Given the description of an element on the screen output the (x, y) to click on. 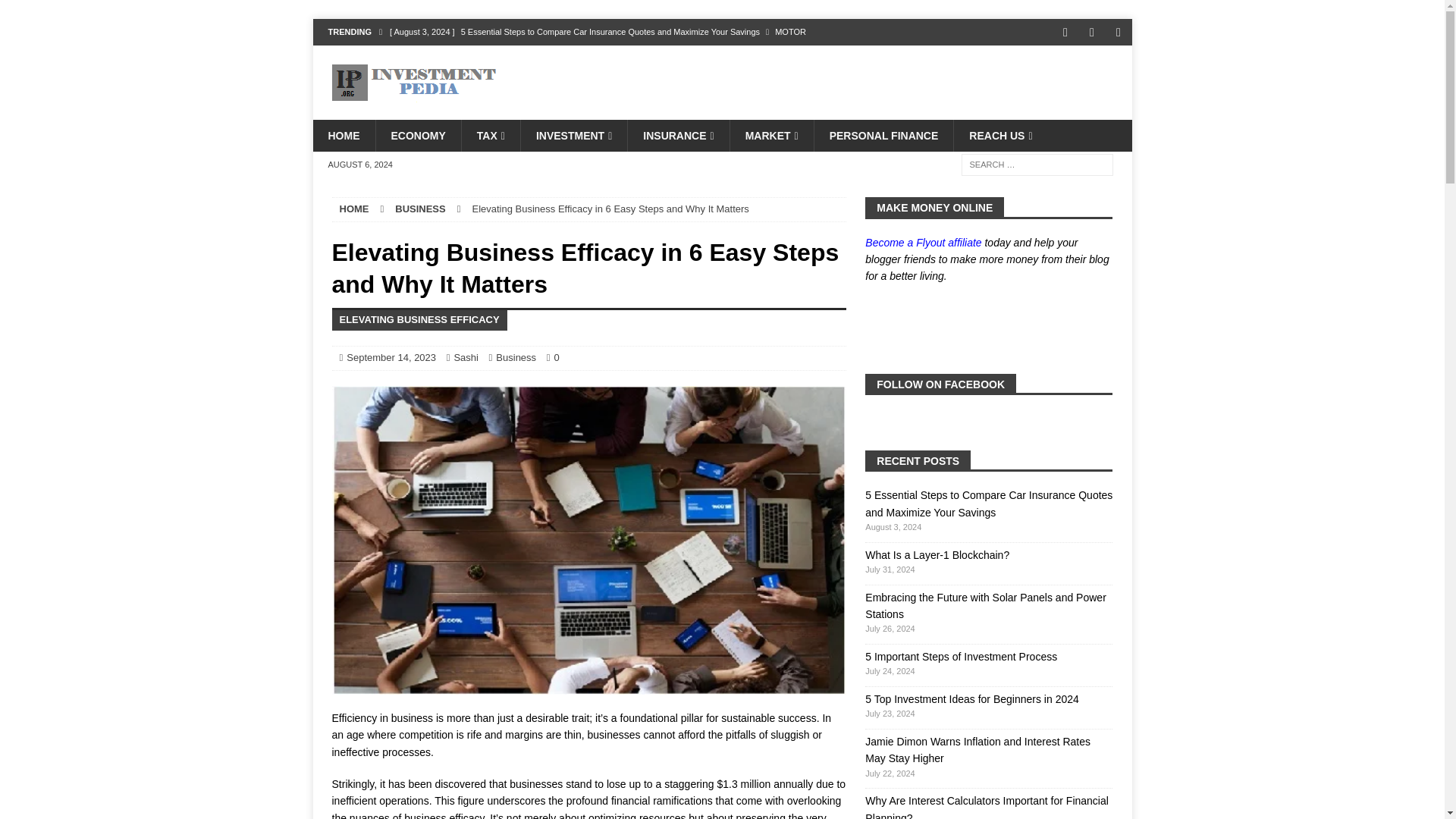
MARKET (771, 135)
PERSONAL FINANCE (883, 135)
September 14, 2023 (390, 357)
What Is a Layer-1 Blockchain? (620, 57)
Sashi (465, 357)
TAX (490, 135)
HOME (343, 135)
INSURANCE (678, 135)
Search (56, 11)
BUSINESS (419, 208)
